Given the description of an element on the screen output the (x, y) to click on. 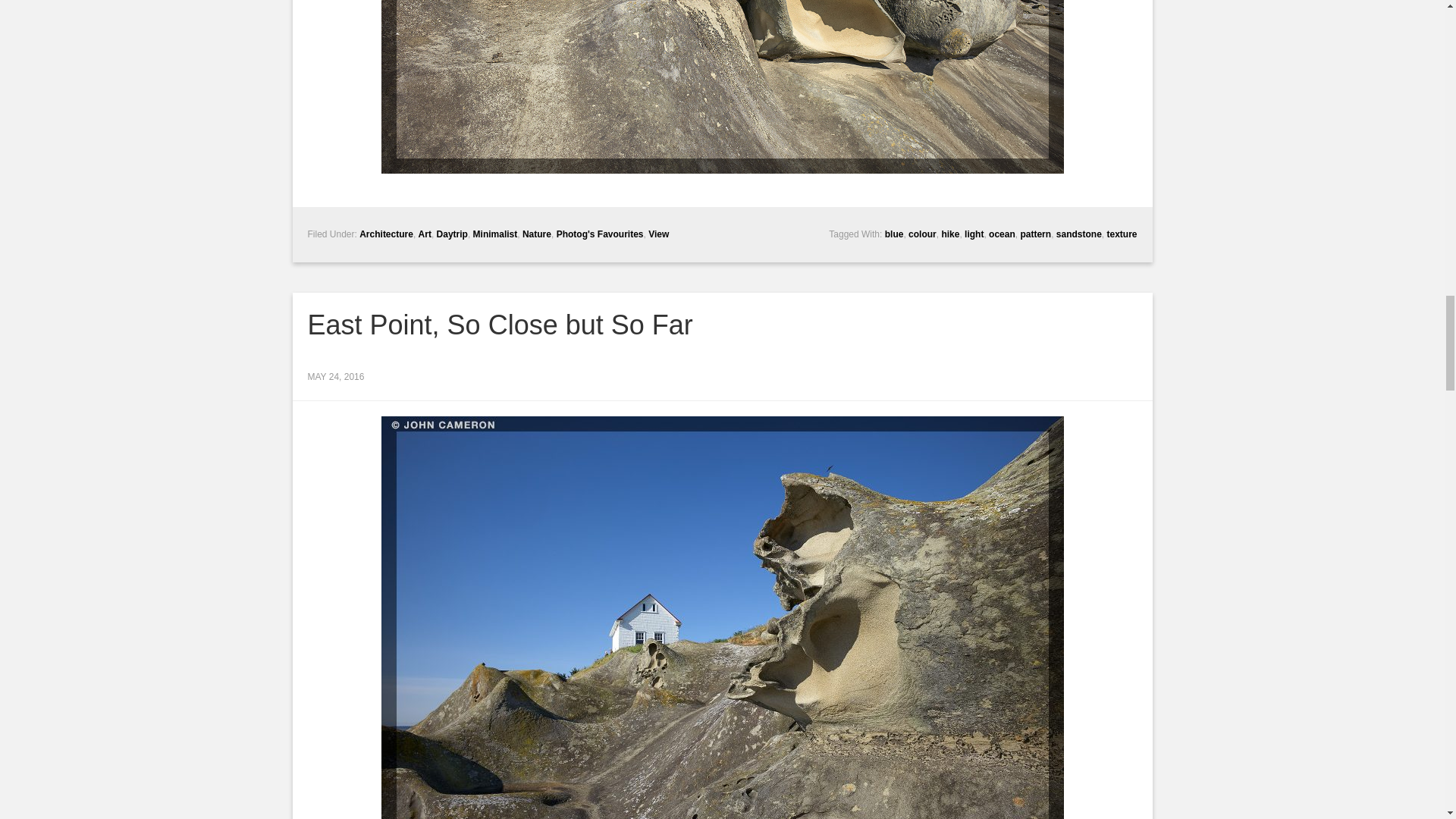
Minimalist (495, 234)
Daytrip (451, 234)
East Point, So Close but So Far (500, 324)
Art (424, 234)
Nature (536, 234)
pattern (1035, 234)
Photog's Favourites (599, 234)
ocean (1001, 234)
Architecture (386, 234)
sandstone (1079, 234)
View (657, 234)
light (973, 234)
hike (949, 234)
blue (894, 234)
texture (1121, 234)
